Given the description of an element on the screen output the (x, y) to click on. 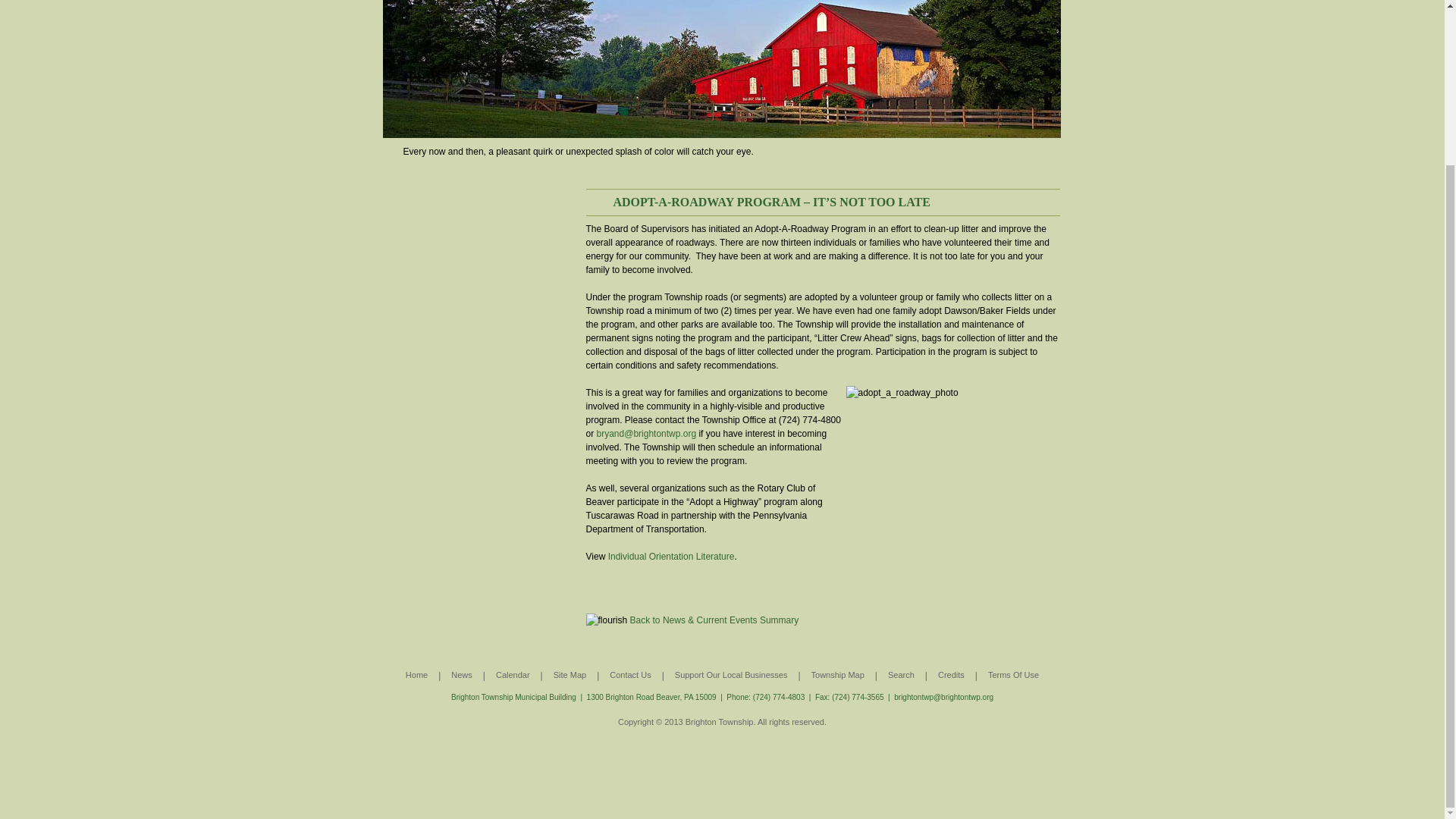
News (461, 669)
Credits (950, 669)
Calendar (512, 669)
Township Map (837, 669)
Terms Of Use (1013, 669)
Support Our Local Businesses (731, 669)
Contact Us (630, 669)
Search (901, 669)
Site Map (569, 669)
Individual Orientation Literature (671, 556)
